Given the description of an element on the screen output the (x, y) to click on. 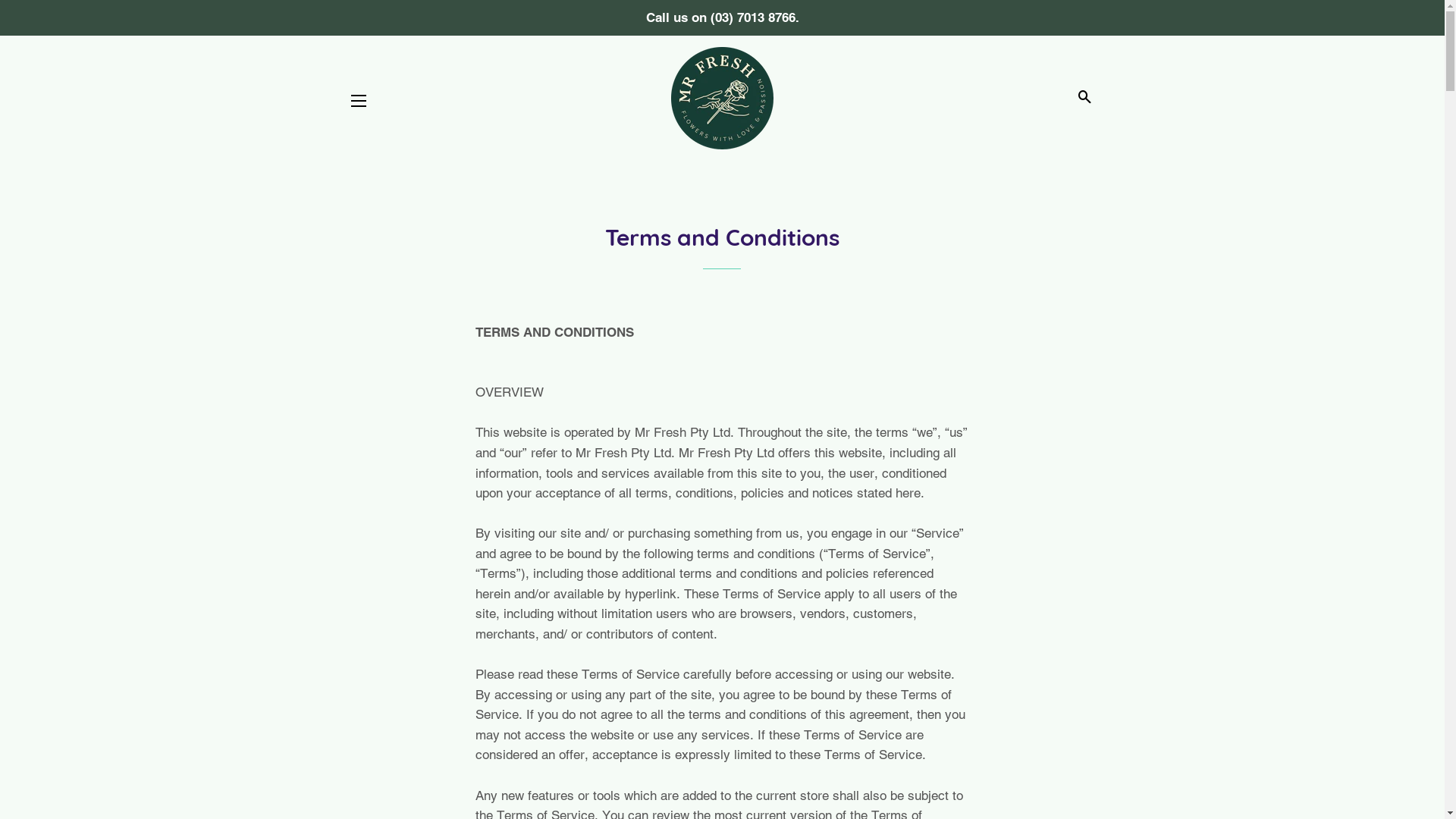
SEARCH Element type: text (1084, 97)
SITE NAVIGATION Element type: text (358, 100)
